Given the description of an element on the screen output the (x, y) to click on. 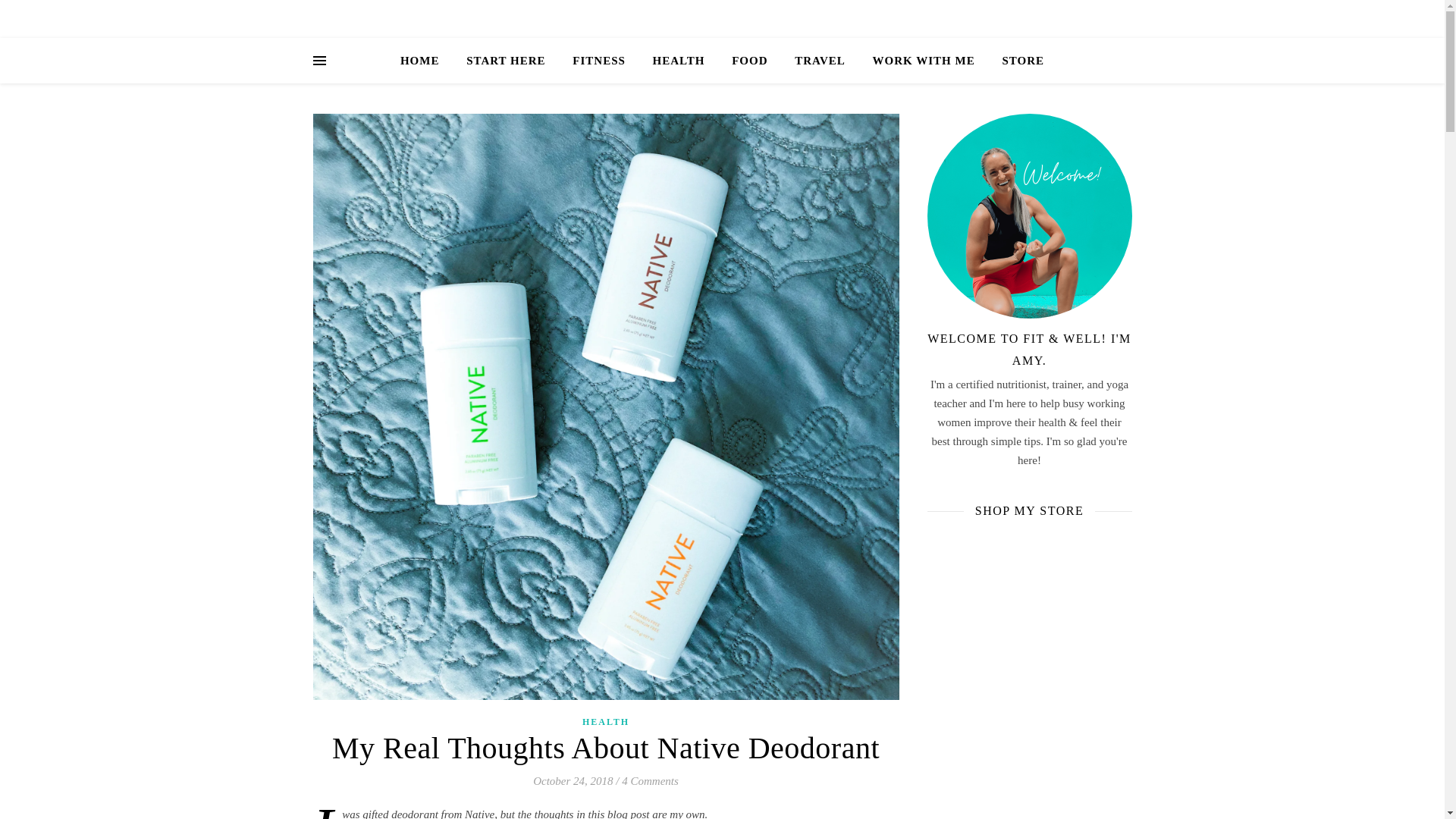
START HERE (505, 60)
FOOD (748, 60)
4 Comments (649, 780)
HEALTH (678, 60)
HOME (425, 60)
TRAVEL (820, 60)
HEALTH (605, 721)
STORE (1016, 60)
FITNESS (598, 60)
WORK WITH ME (923, 60)
